Given the description of an element on the screen output the (x, y) to click on. 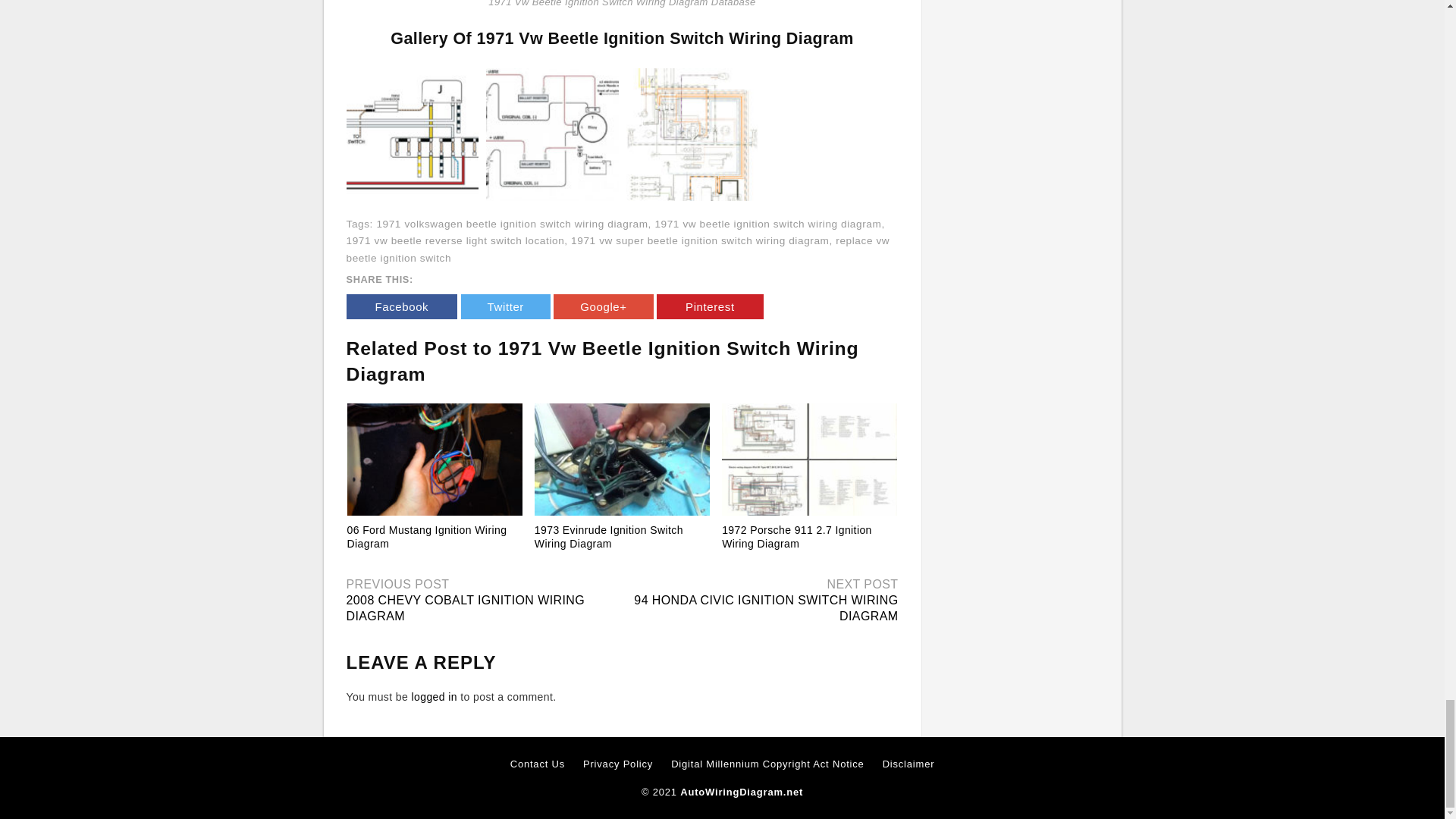
1971 vw beetle reverse light switch location (455, 240)
1973 Evinrude Ignition Switch Wiring Diagram (608, 536)
06 Ford Mustang Ignition Wiring Diagram (426, 536)
06 Ford Mustang Ignition Wiring Diagram (434, 459)
Facebook (401, 306)
1971 vw super beetle ignition switch wiring diagram (699, 240)
1972 Porsche 911 2.7 Ignition Wiring Diagram (797, 536)
Pinterest (709, 306)
Twitter (505, 306)
1971 volkswagen beetle ignition switch wiring diagram (511, 224)
1971 Vw Beetle Ignition Switch Wiring Diagram Database (552, 133)
